Given the description of an element on the screen output the (x, y) to click on. 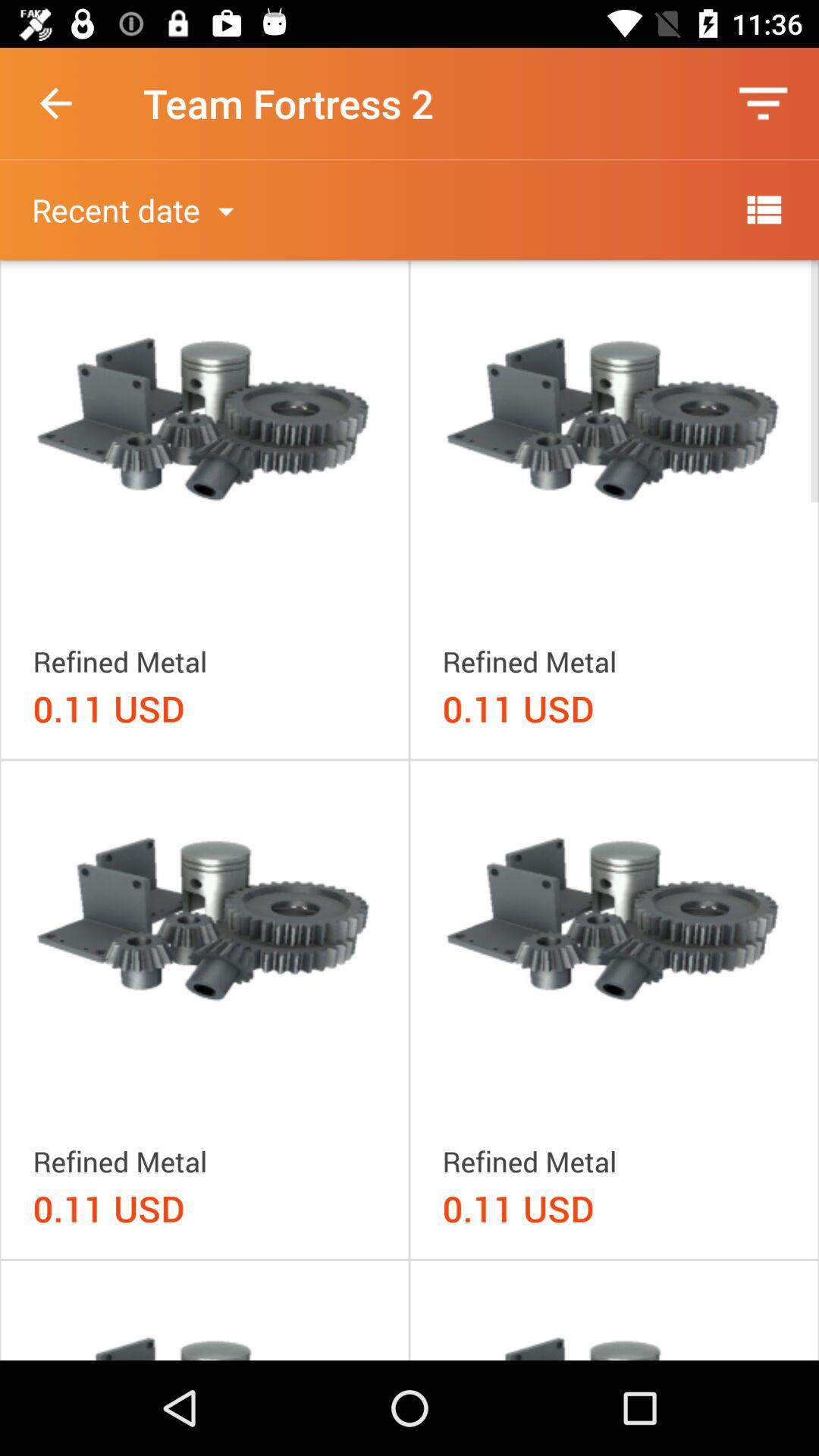
expand menu (763, 209)
